Given the description of an element on the screen output the (x, y) to click on. 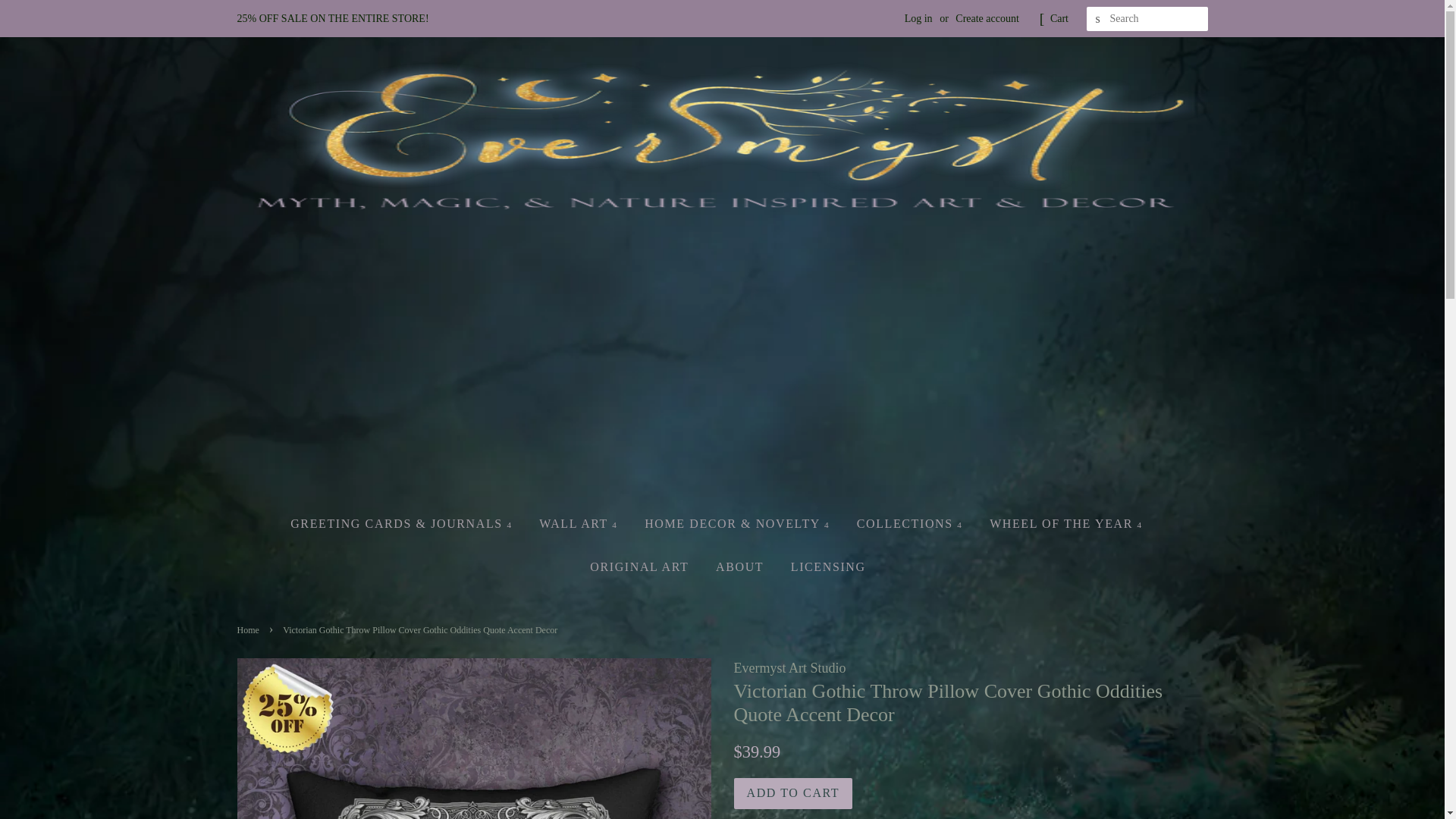
Back to the frontpage (248, 629)
Create account (987, 18)
SEARCH (1097, 18)
Log in (918, 18)
Cart (1058, 18)
